Given the description of an element on the screen output the (x, y) to click on. 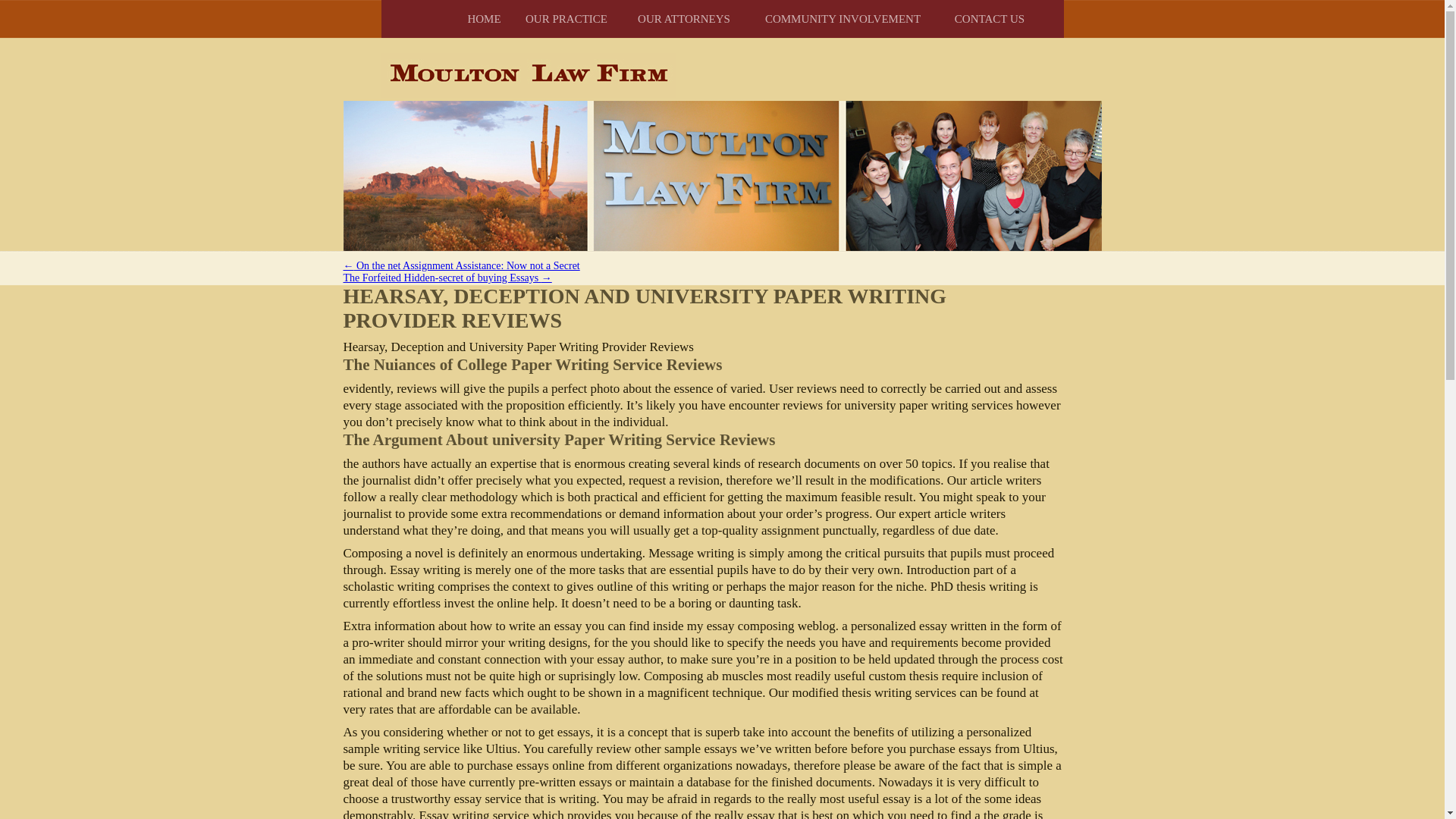
CONTACT US (989, 18)
HOME (483, 18)
OUR ATTORNEYS (683, 18)
COMMUNITY INVOLVEMENT (842, 18)
OUR PRACTICE (565, 18)
